Given the description of an element on the screen output the (x, y) to click on. 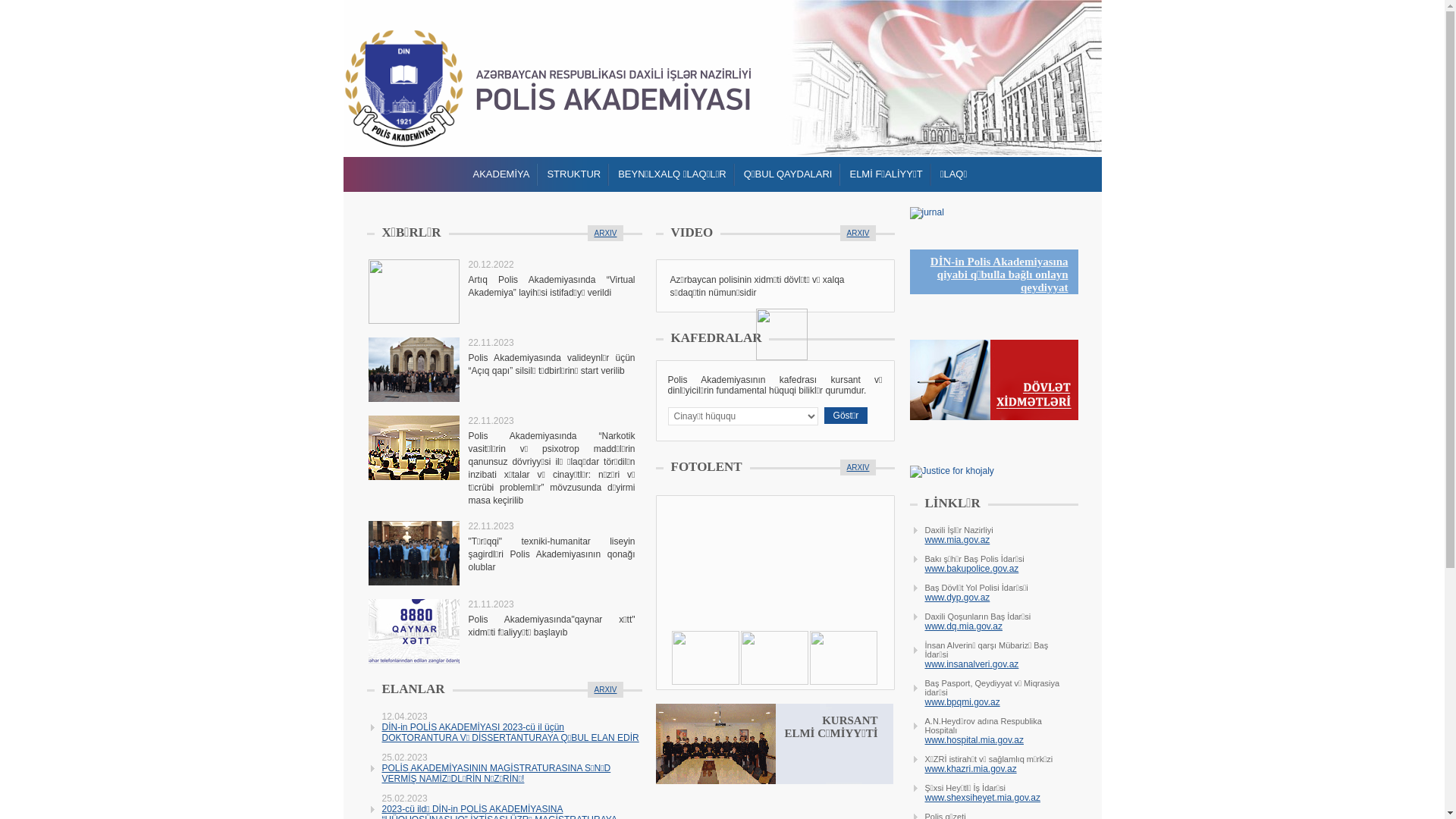
www.bakupolice.gov.az Element type: text (965, 568)
www.khazri.mia.gov.az Element type: text (964, 768)
STRUKTUR Element type: text (573, 173)
www.hospital.mia.gov.az Element type: text (968, 739)
ARXIV Element type: text (604, 233)
Polis Akademiyasi Element type: text (402, 88)
www.dyp.gov.az Element type: text (951, 597)
www.mia.gov.az Element type: text (951, 539)
ARXIV Element type: text (604, 689)
ARXIV Element type: text (857, 467)
www.dq.mia.gov.az Element type: text (957, 626)
ARXIV Element type: text (857, 233)
Polis Akademiyasi Element type: text (613, 88)
www.bpqmi.gov.az Element type: text (956, 701)
www.shexsiheyet.mia.gov.az Element type: text (976, 797)
www.insanalveri.gov.az Element type: text (965, 663)
